Given the description of an element on the screen output the (x, y) to click on. 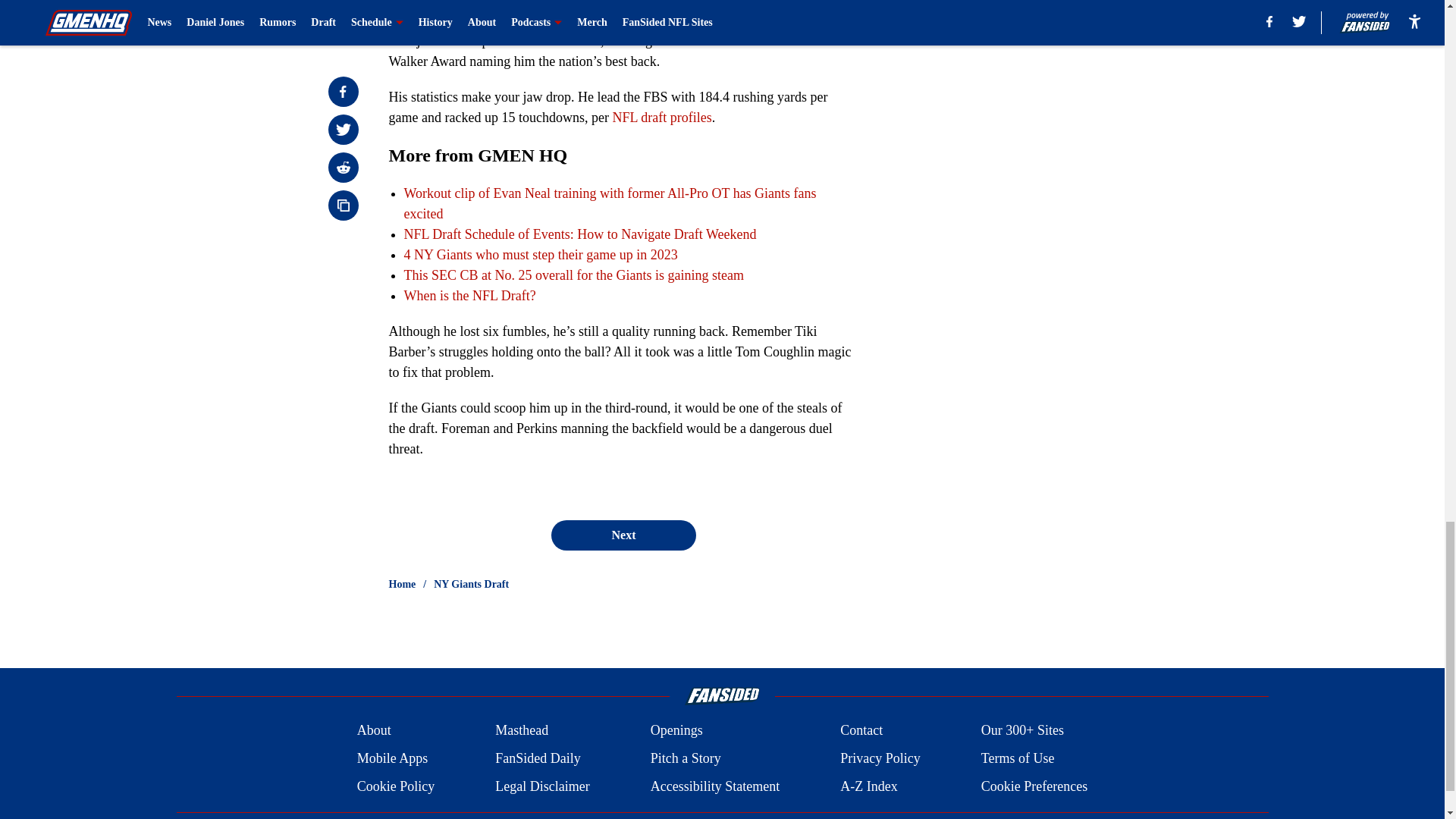
4 NY Giants who must step their game up in 2023 (540, 254)
Masthead (521, 730)
NFL Draft Schedule of Events: How to Navigate Draft Weekend (579, 233)
NFL draft profiles (661, 117)
Contact (861, 730)
Next (622, 535)
Home (401, 584)
About (373, 730)
When is the NFL Draft? (469, 295)
Openings (676, 730)
NY Giants Draft (470, 584)
